Given the description of an element on the screen output the (x, y) to click on. 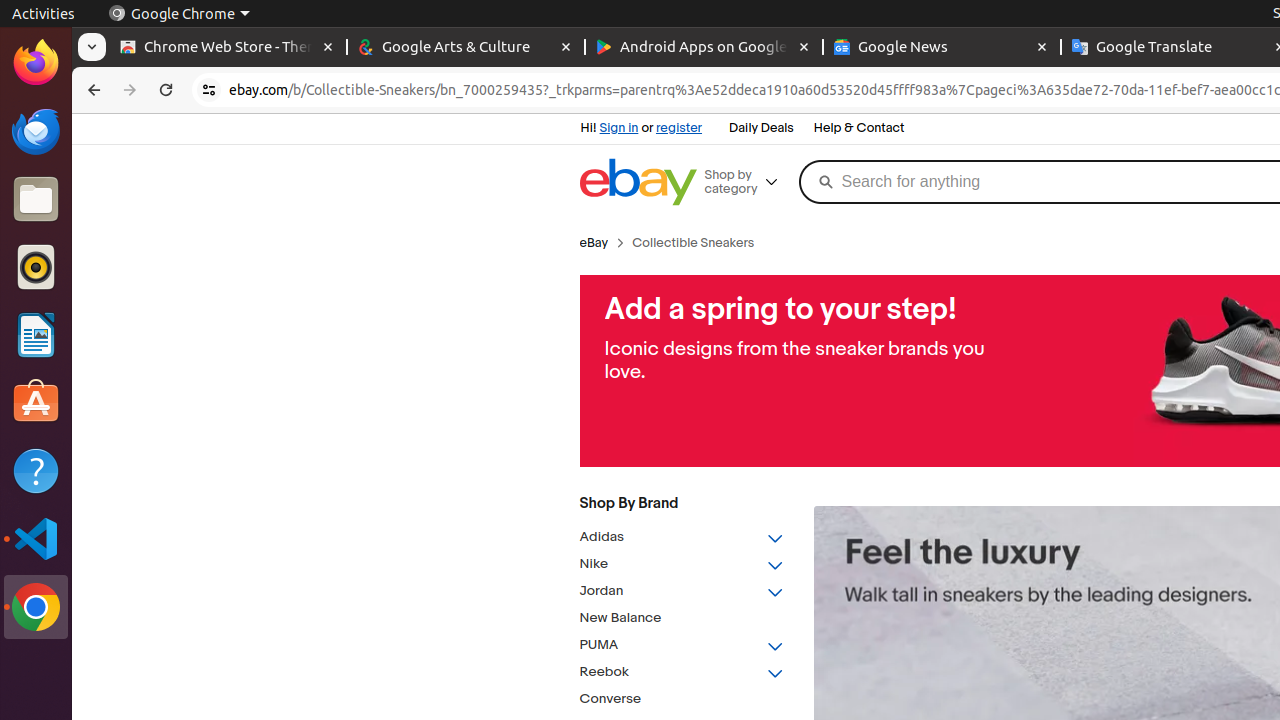
Files Element type: push-button (36, 199)
Google Chrome Element type: push-button (36, 607)
Ubuntu Software Element type: push-button (36, 402)
New Balance Element type: link (682, 618)
Daily Deals Element type: link (761, 129)
